Given the description of an element on the screen output the (x, y) to click on. 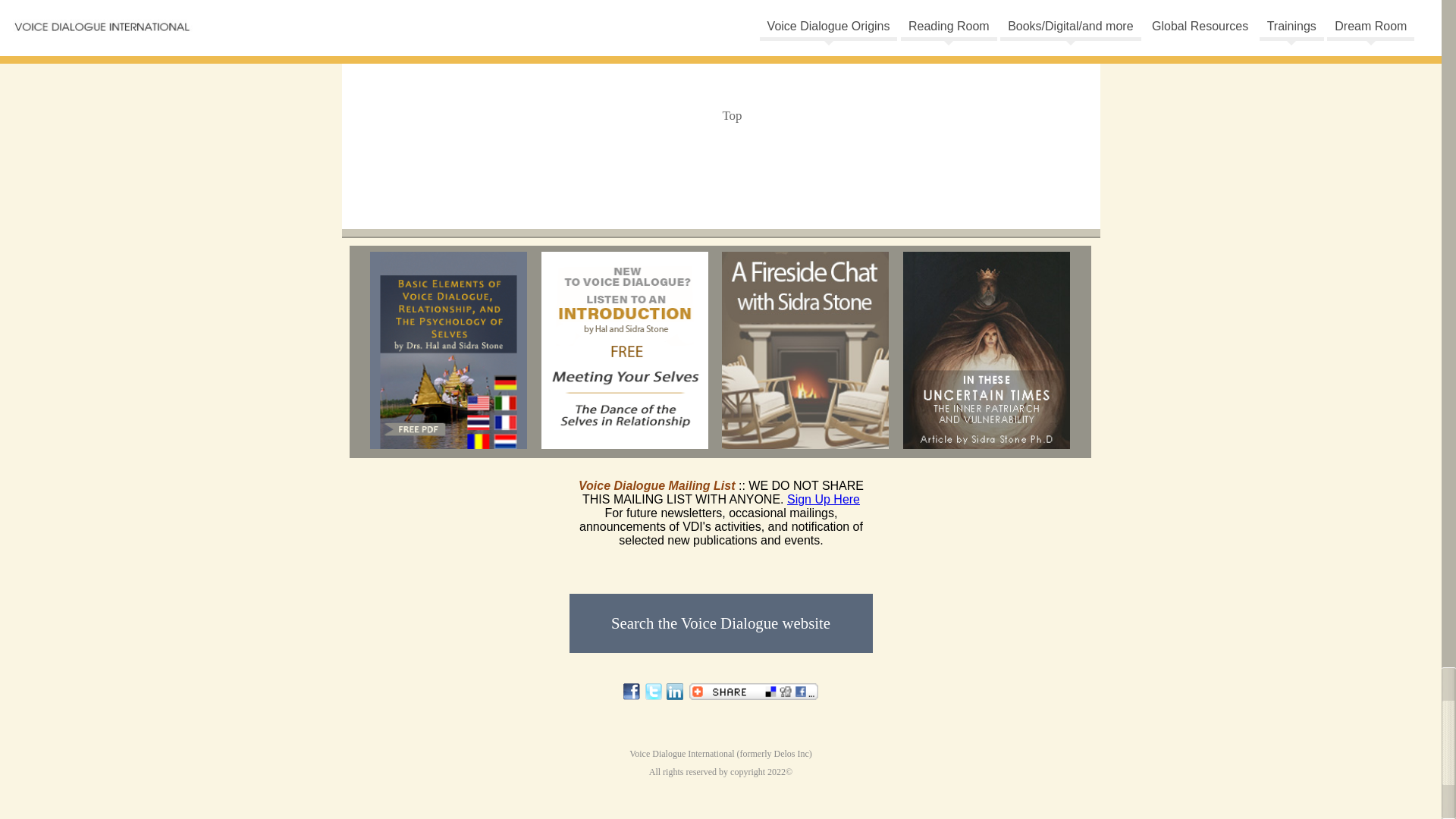
Top (731, 115)
